Given the description of an element on the screen output the (x, y) to click on. 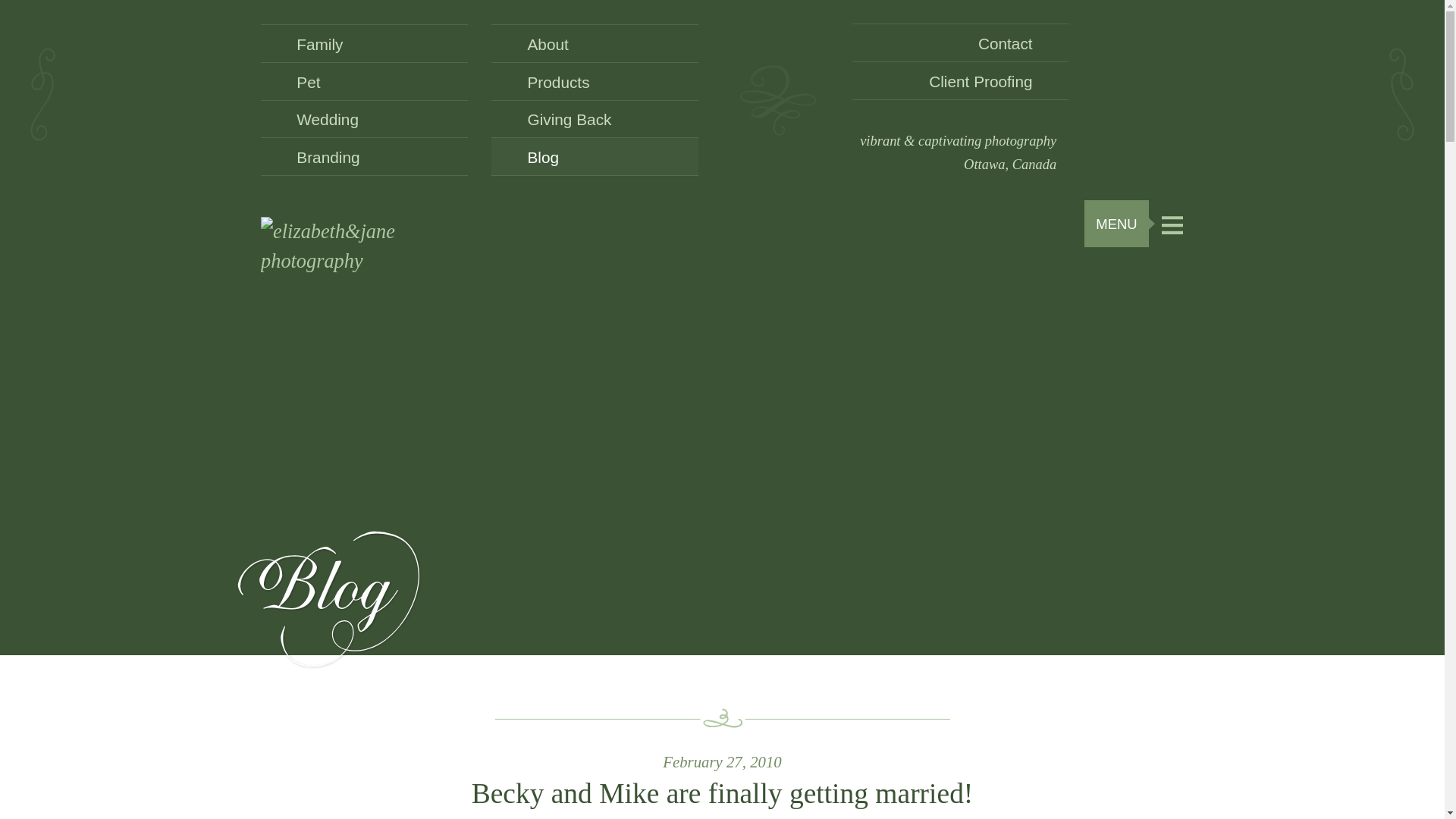
Blog (595, 157)
About (595, 43)
MENU (1139, 223)
Giving Back (595, 119)
Client Proofing (959, 80)
Family (363, 43)
Contact (959, 42)
Pet (363, 81)
Products (595, 81)
Branding (363, 157)
